Given the description of an element on the screen output the (x, y) to click on. 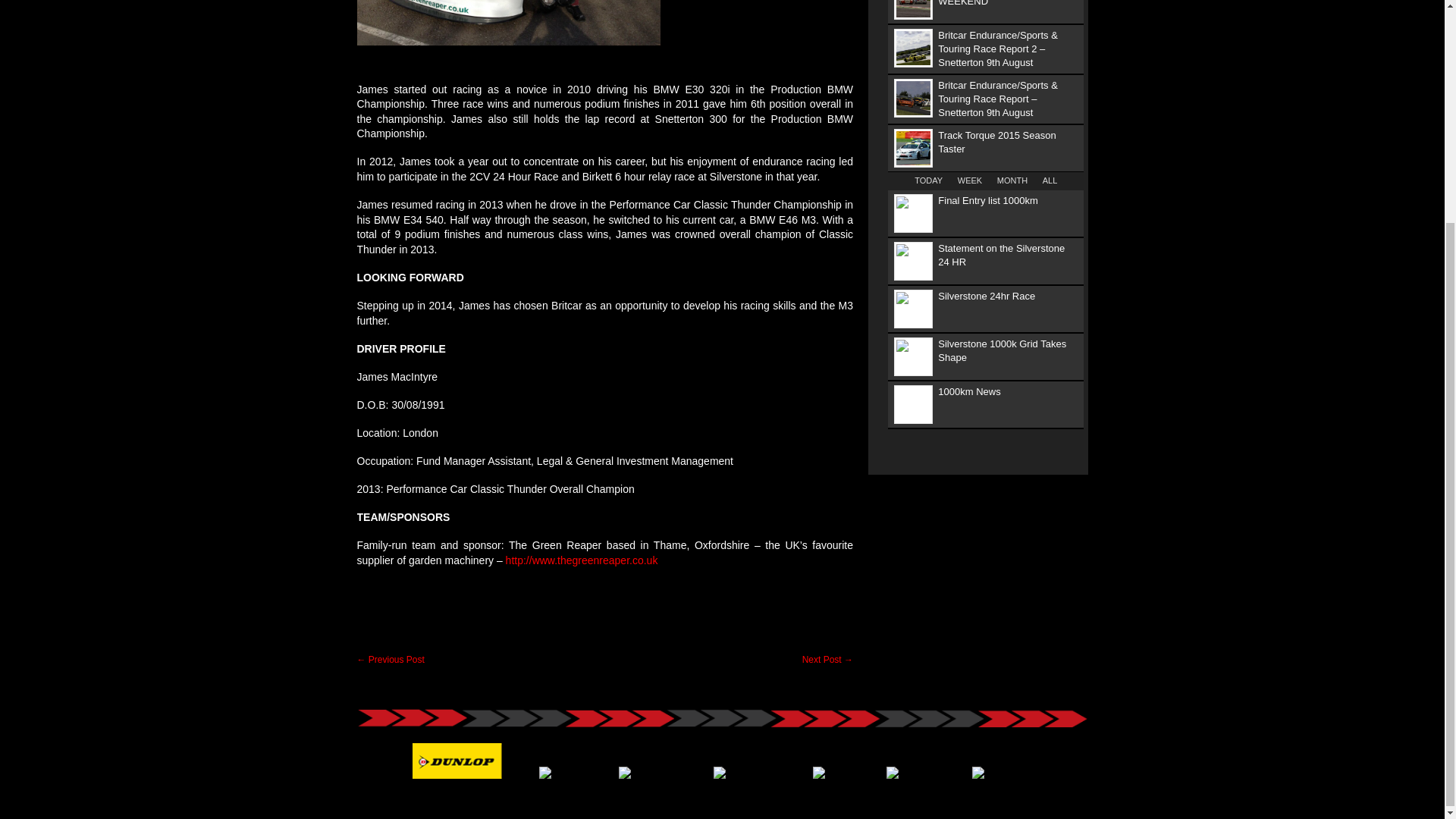
WEEK (969, 180)
ALL (1050, 180)
MONTH (1012, 180)
TODAY (928, 180)
